Given the description of an element on the screen output the (x, y) to click on. 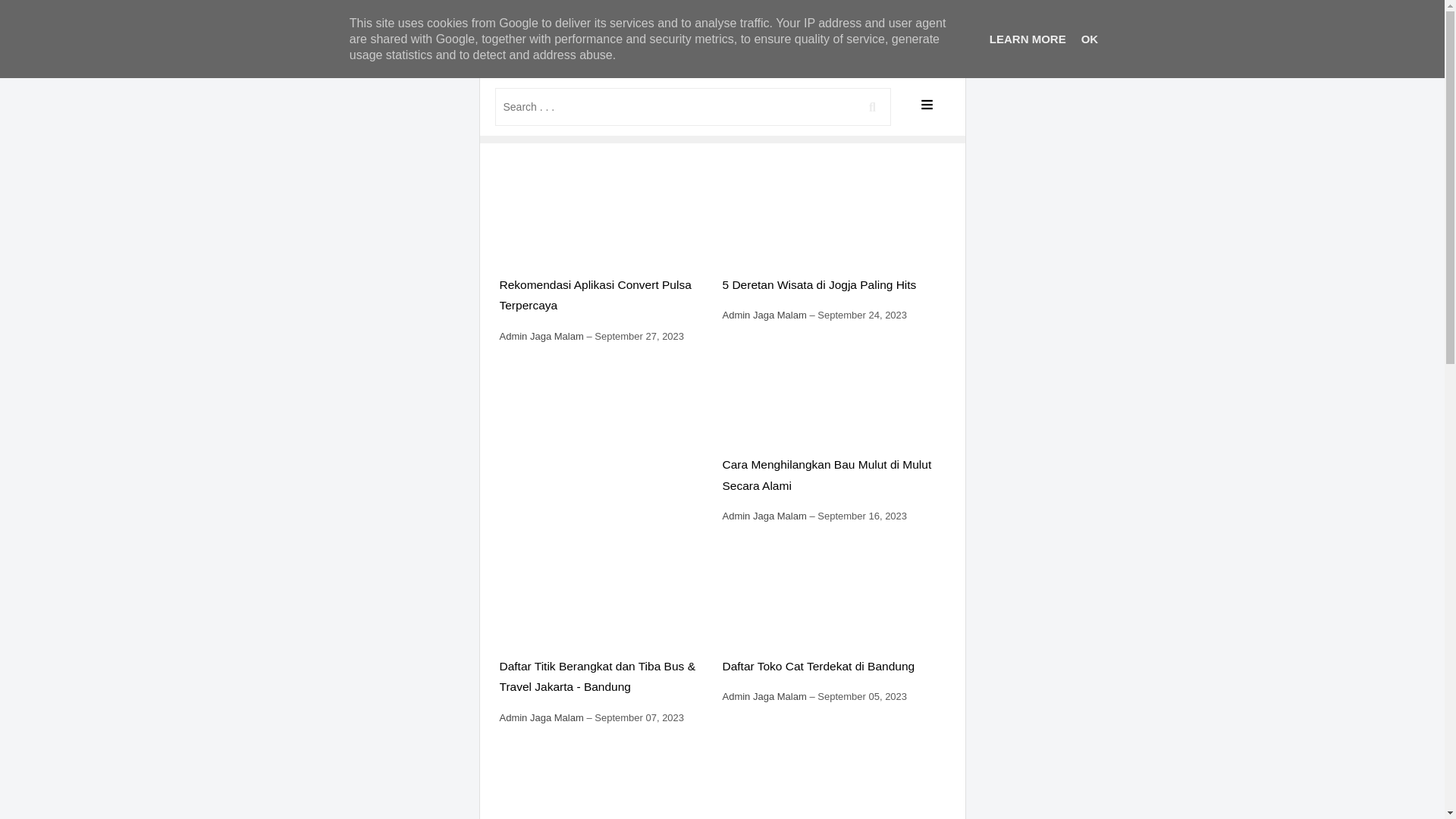
Cara Menghilangkan Bau Mulut di Mulut Secara Alami Element type: text (826, 474)
OK Element type: text (1089, 38)
Daftar Toko Cat Terdekat di Bandung Element type: hover (830, 600)
Search Element type: hover (871, 105)
5 Deretan Wisata di Jogja Paling Hits Element type: hover (830, 218)
LEARN MORE Element type: text (1027, 38)
Rekomendasi Aplikasi Convert Pulsa Terpercaya Element type: text (594, 294)
Rekomendasi Aplikasi Convert Pulsa Terpercaya Element type: hover (607, 218)
Pesona Budaya Element type: hover (721, 45)
Cara Menghilangkan Bau Mulut di Mulut Secara Alami Element type: hover (830, 399)
Daftar Toko Cat Terdekat di Bandung Element type: text (817, 666)
5 Deretan Wisata di Jogja Paling Hits Element type: text (818, 284)
